Given the description of an element on the screen output the (x, y) to click on. 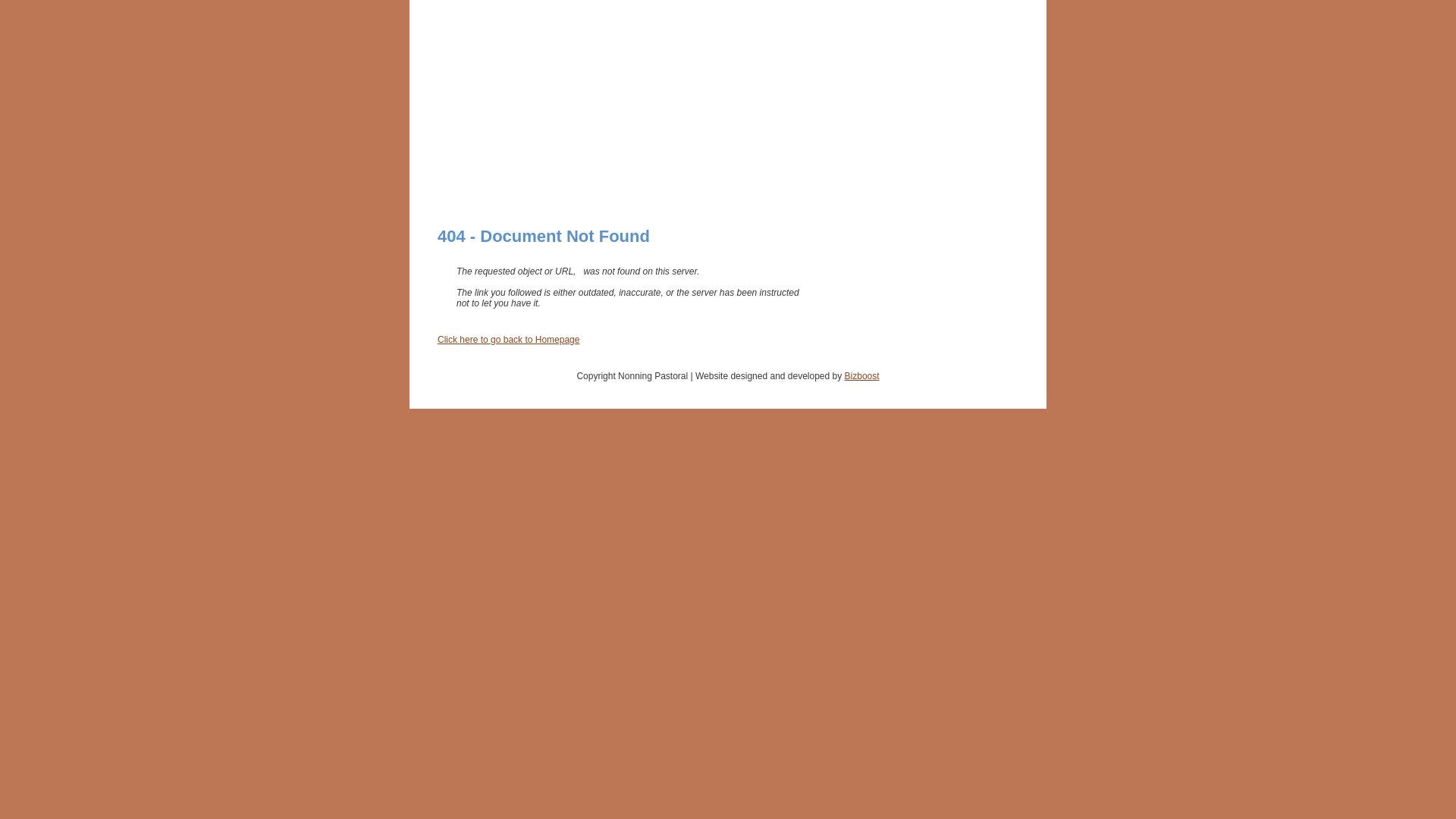
Click here to go back to Homepage Element type: text (508, 339)
ANNUAL SALE Element type: text (544, 193)
CONTACT US Element type: text (643, 193)
HOME Element type: text (463, 193)
Bizboost Element type: text (861, 375)
